Given the description of an element on the screen output the (x, y) to click on. 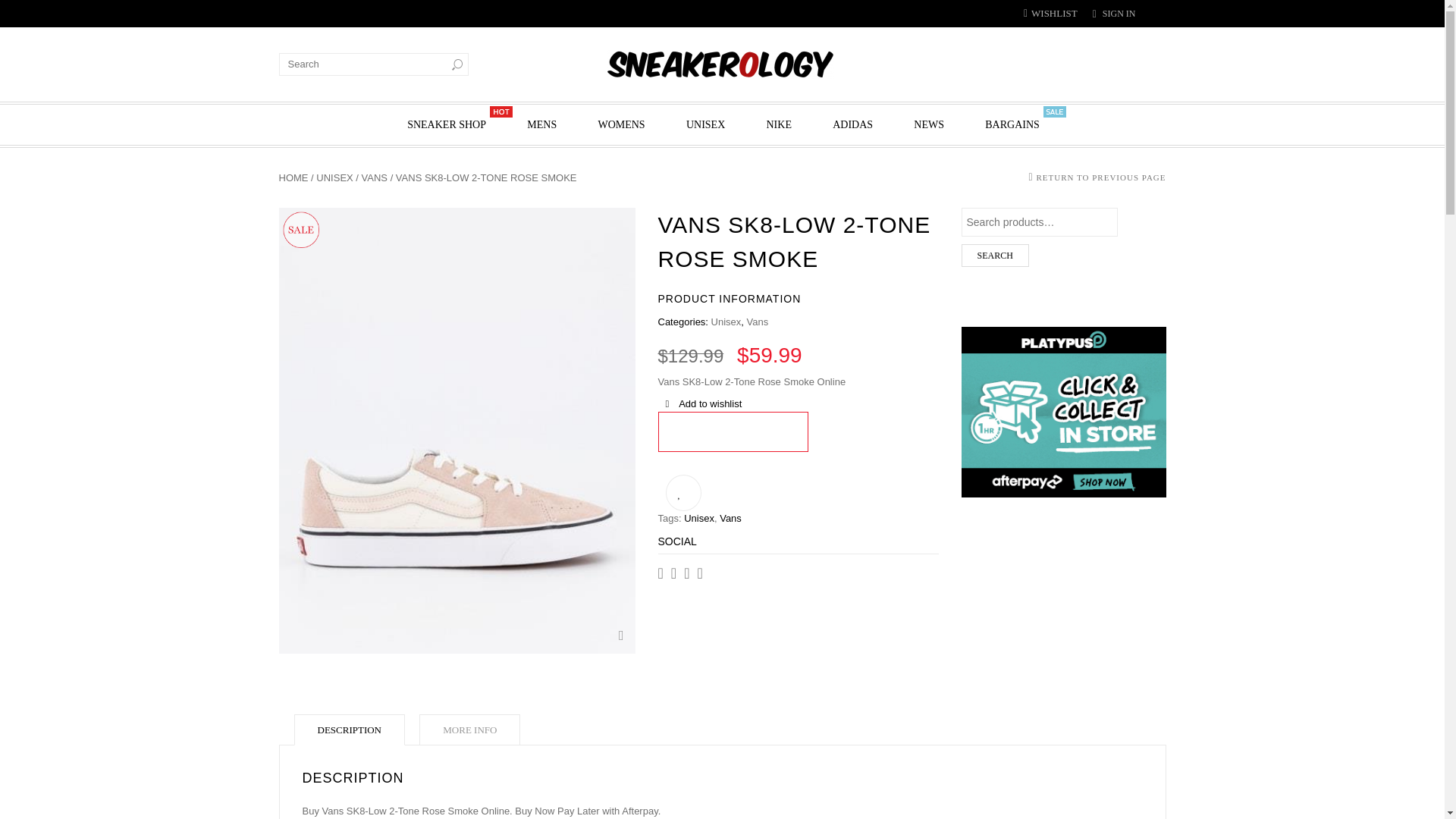
HOME (293, 176)
SIGN IN (1118, 13)
UNISEX (705, 124)
SNEAKER SHOP (446, 124)
WOMENS (620, 124)
UNISEX (333, 176)
WISHLIST (1050, 11)
VANS (374, 176)
NEWS (928, 124)
BARGAINS (1012, 124)
ADIDAS (852, 124)
MENS (541, 124)
